Given the description of an element on the screen output the (x, y) to click on. 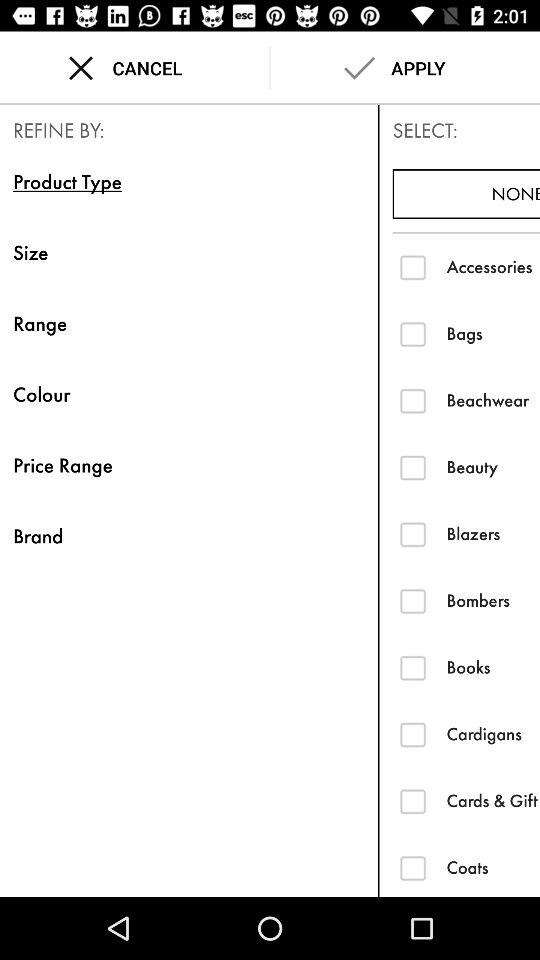
select product type (412, 867)
